Given the description of an element on the screen output the (x, y) to click on. 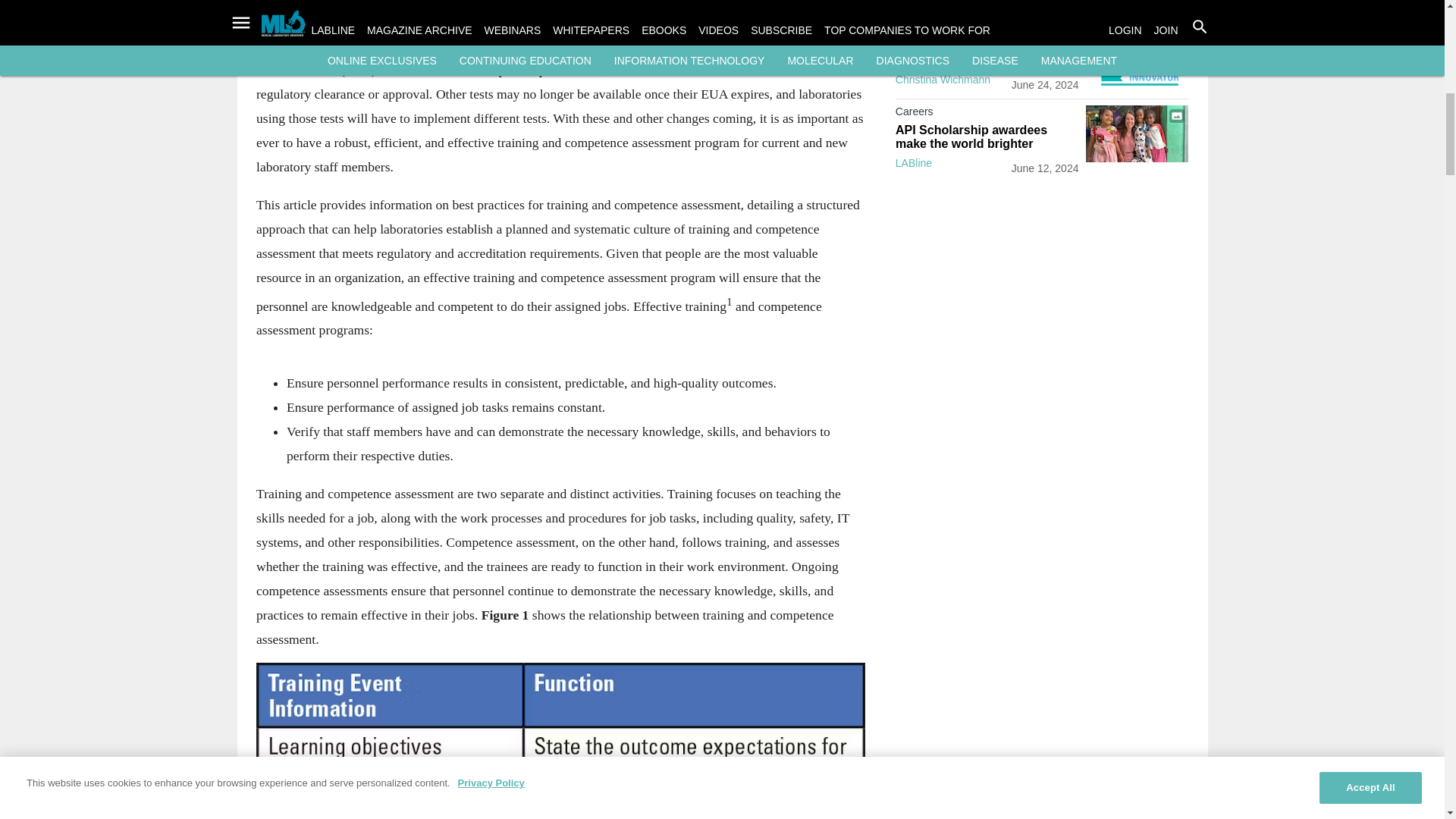
Mlo202106 Lab Man Table1 (560, 740)
